Given the description of an element on the screen output the (x, y) to click on. 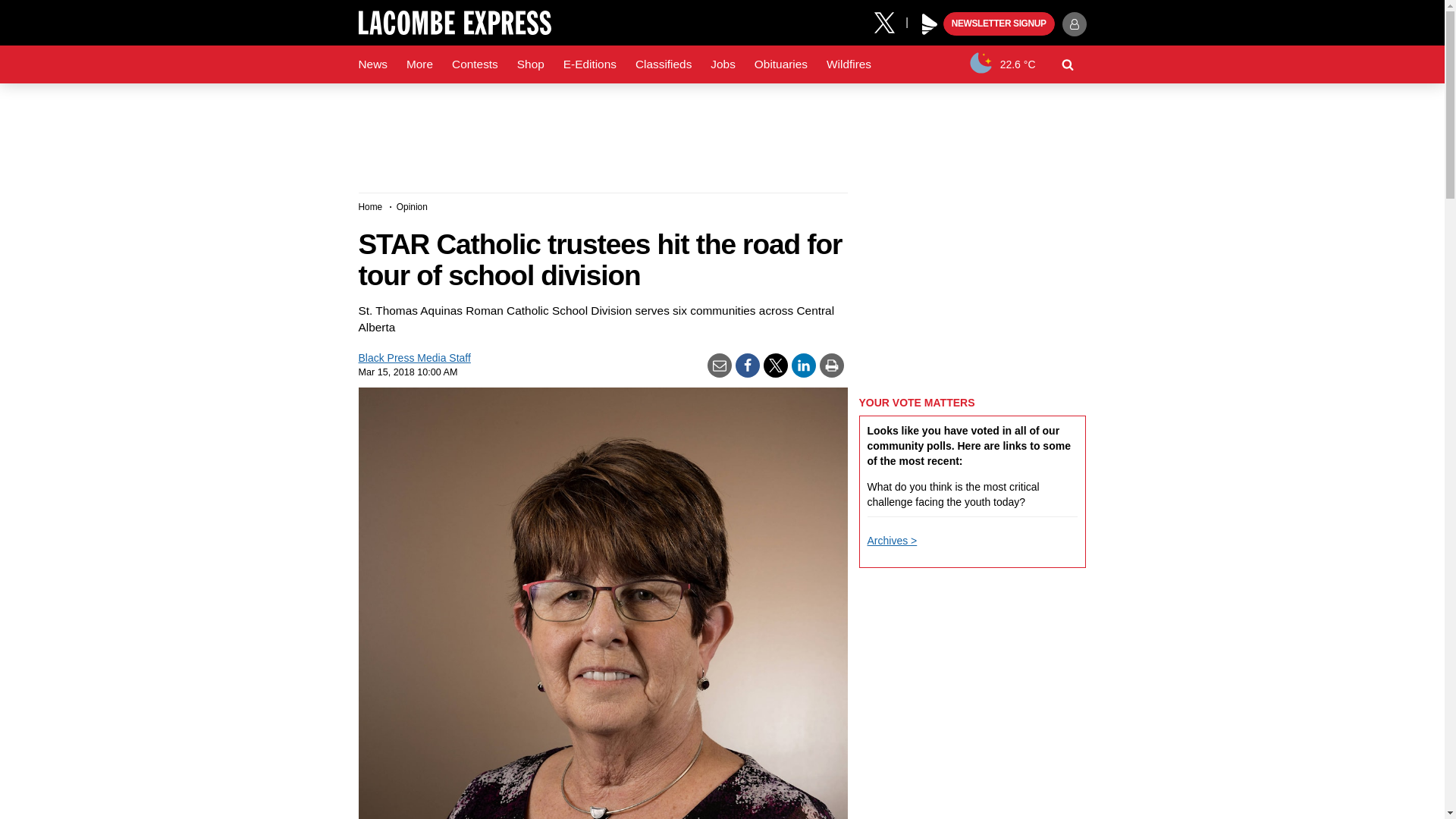
Black Press Media (929, 24)
X (889, 21)
News (372, 64)
NEWSLETTER SIGNUP (998, 24)
Play (929, 24)
